Given the description of an element on the screen output the (x, y) to click on. 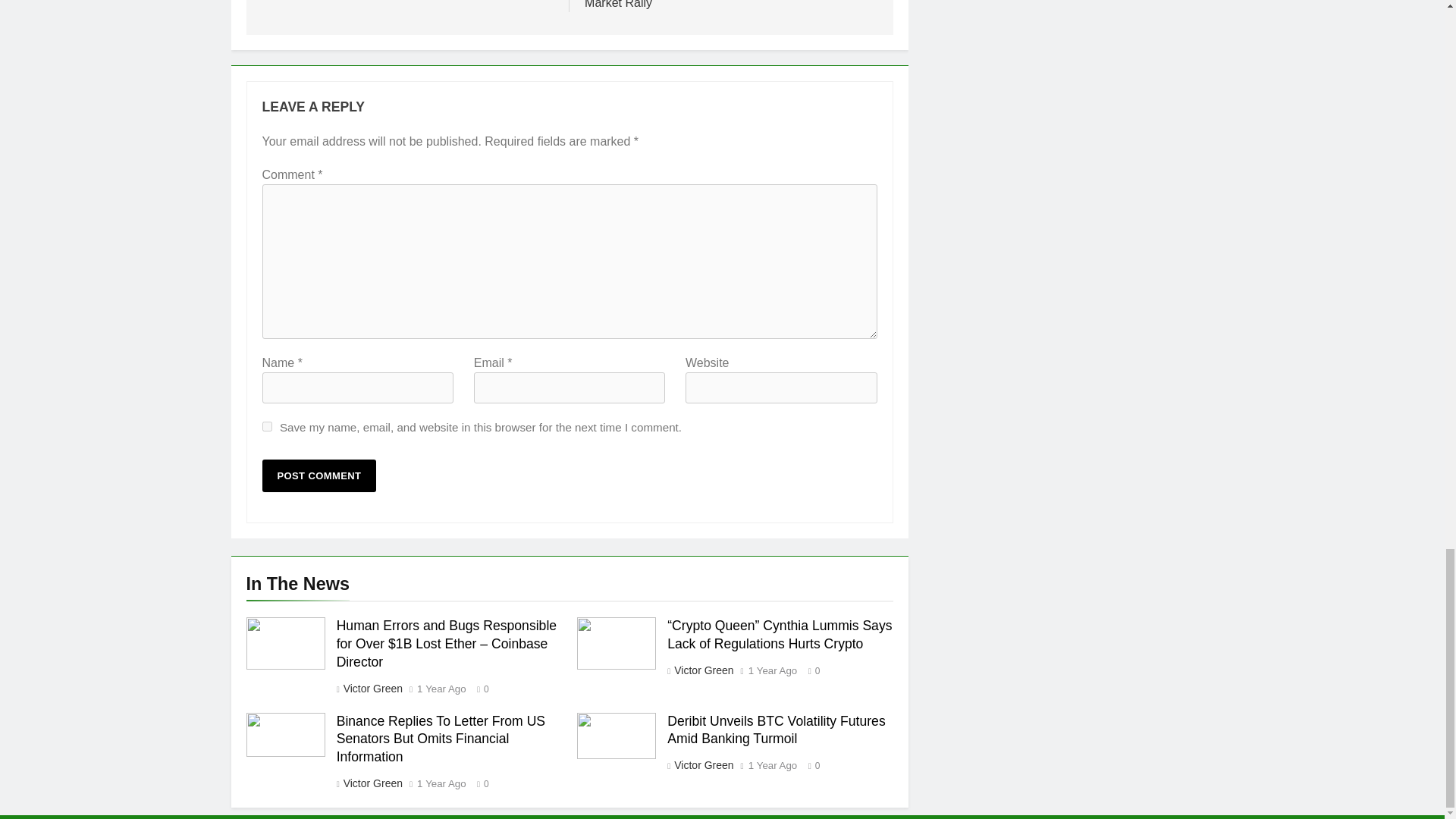
yes (267, 426)
Post Comment (319, 475)
